Given the description of an element on the screen output the (x, y) to click on. 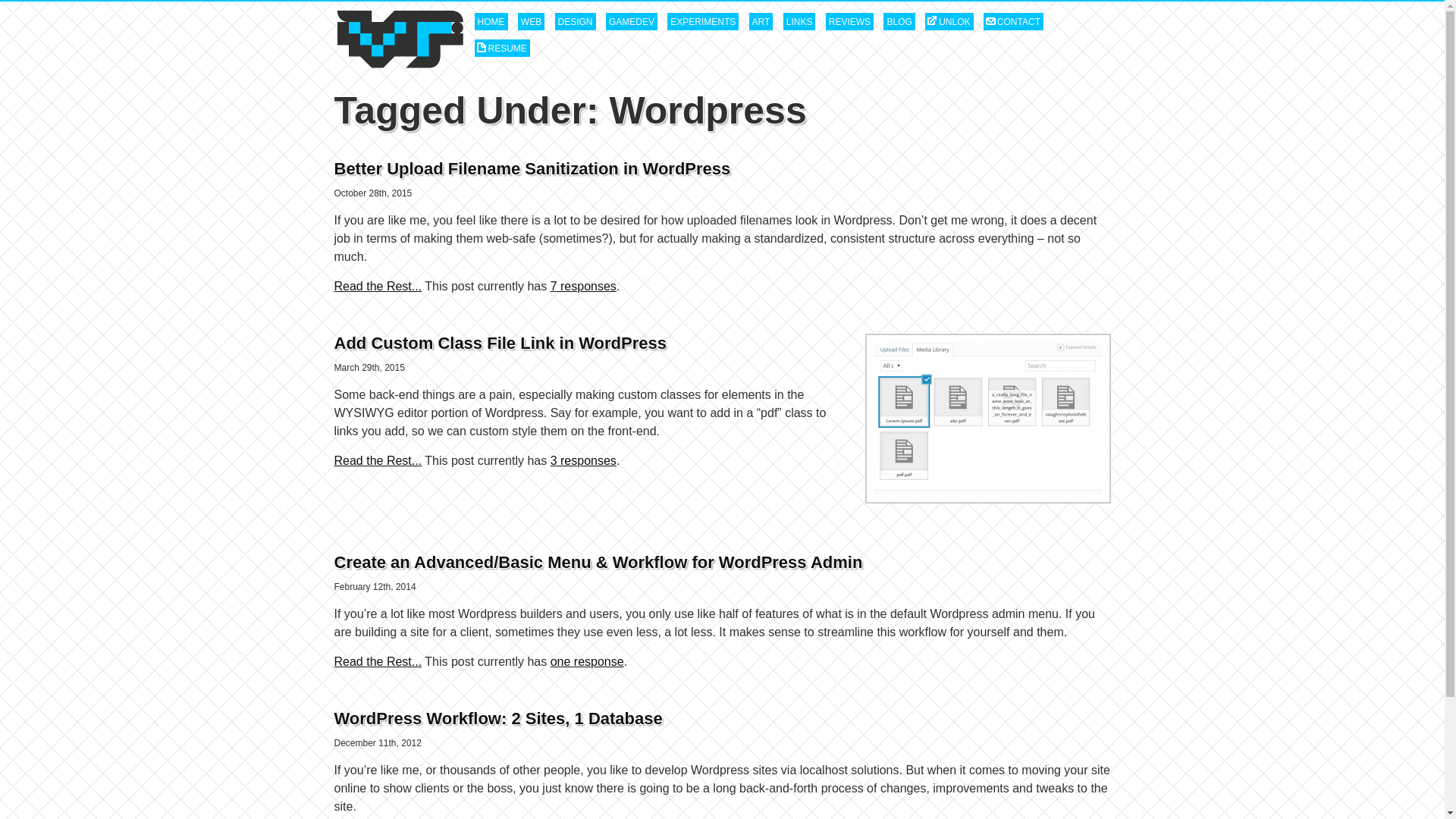
one response (587, 661)
WEB (531, 21)
DESIGN (574, 21)
ART (761, 21)
GAMEDEV (631, 21)
Read the Rest... (377, 460)
LINKS (799, 21)
CONTACT (1013, 21)
REVIEWS (849, 21)
EXPERIMENTS (702, 21)
